Given the description of an element on the screen output the (x, y) to click on. 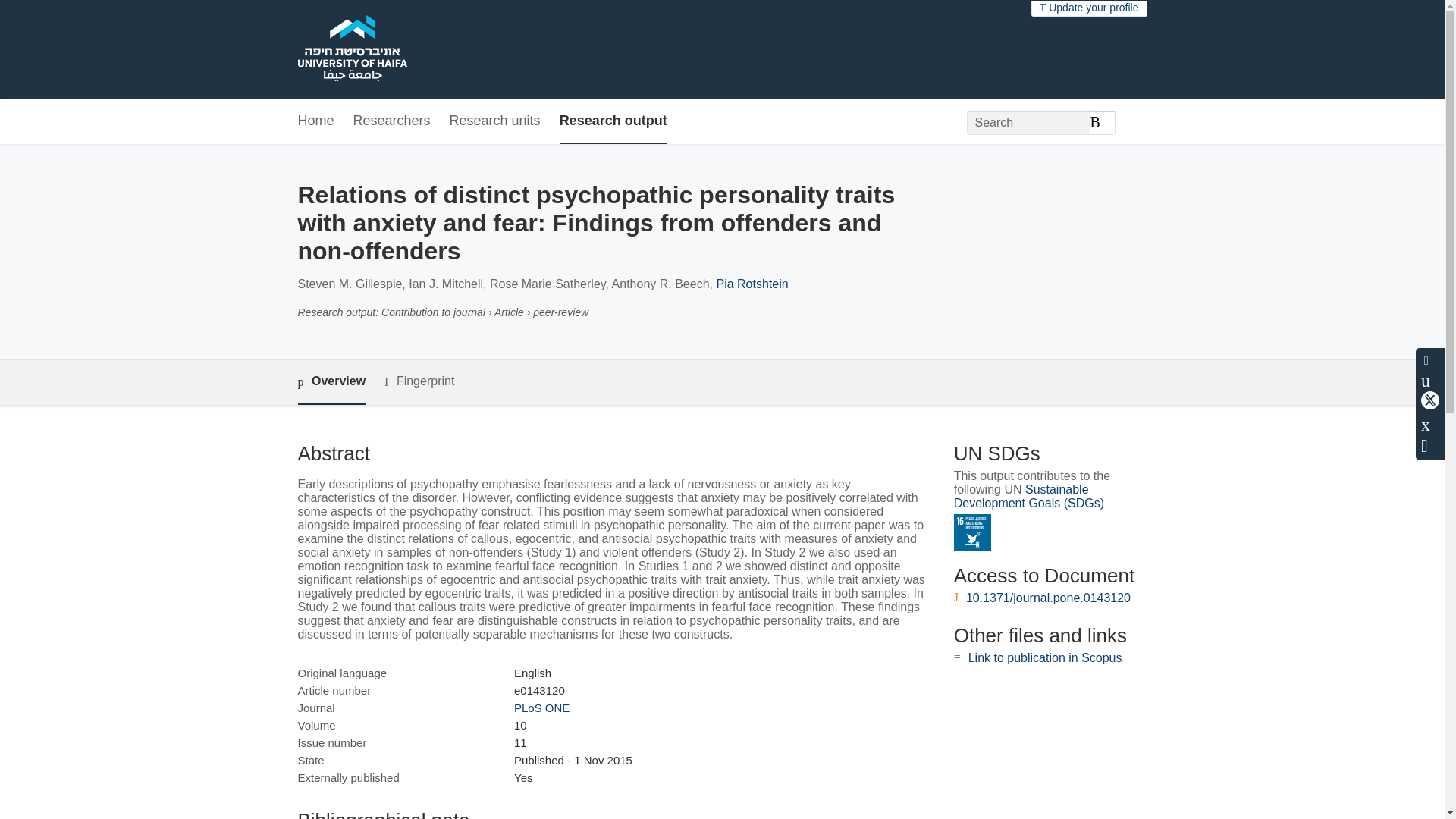
University of Haifa Home (351, 49)
Link to publication in Scopus (1045, 657)
Research output (612, 121)
Researchers (391, 121)
Update your profile (1089, 7)
Pia Rotshtein (751, 283)
SDG 16 - Peace, Justice and Strong Institutions (972, 532)
Research units (494, 121)
PLoS ONE (541, 707)
